Given the description of an element on the screen output the (x, y) to click on. 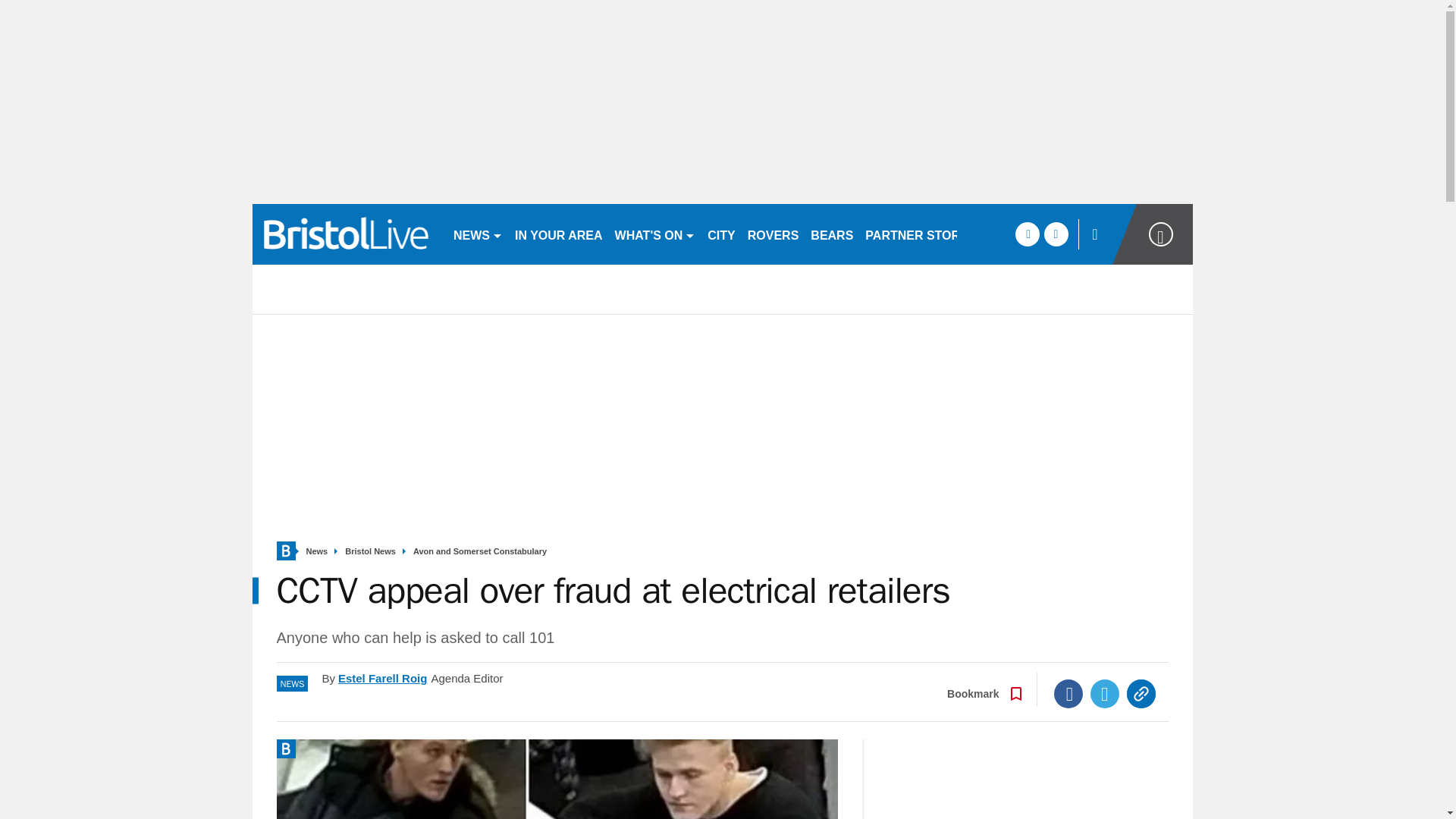
IN YOUR AREA (558, 233)
facebook (1026, 233)
WHAT'S ON (654, 233)
twitter (1055, 233)
PARTNER STORIES (922, 233)
ROVERS (773, 233)
Facebook (1068, 693)
Twitter (1104, 693)
NEWS (477, 233)
BEARS (832, 233)
bristolpost (345, 233)
